Given the description of an element on the screen output the (x, y) to click on. 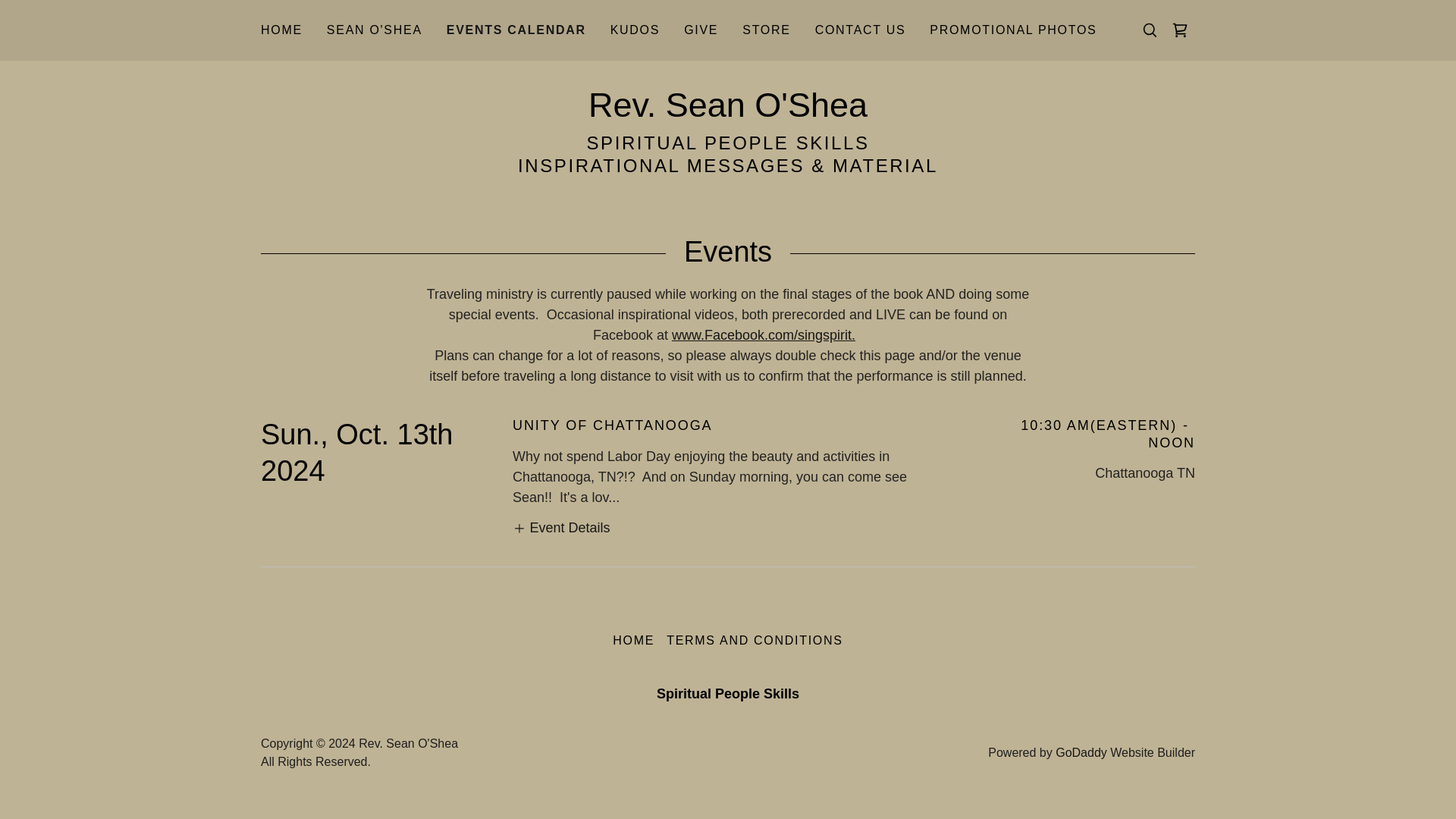
GoDaddy (1080, 752)
HOME (281, 30)
STORE (766, 30)
SEAN O'SHEA (373, 30)
EVENTS CALENDAR (516, 30)
CONTACT US (860, 30)
Rev. Sean O'Shea (727, 111)
PROMOTIONAL PHOTOS (1012, 30)
KUDOS (634, 30)
TERMS AND CONDITIONS (754, 640)
Rev. Sean O'Shea (727, 111)
HOME (634, 640)
GIVE (700, 30)
